Given the description of an element on the screen output the (x, y) to click on. 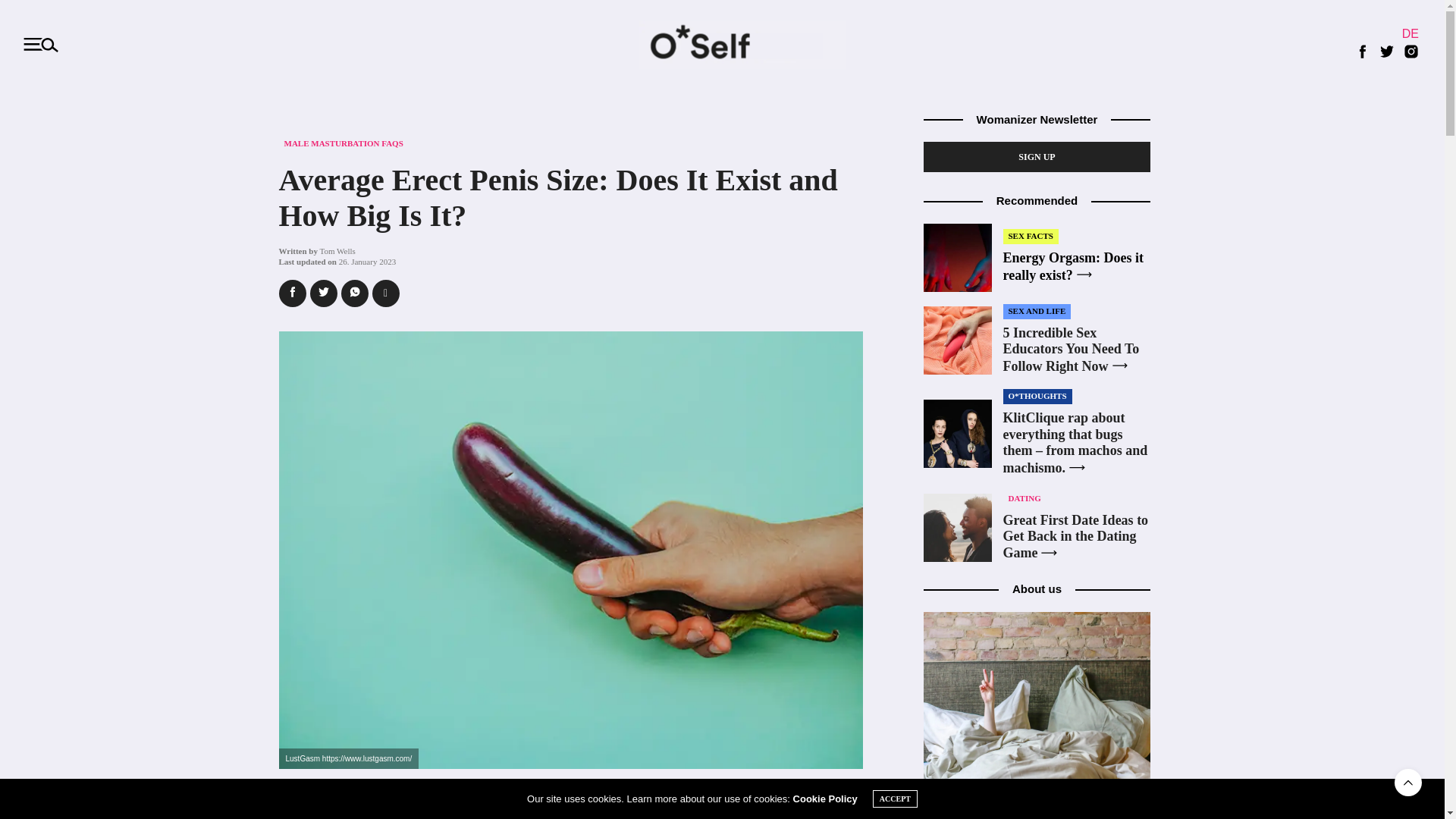
Posts by Tom Wells (337, 250)
Average Erect Penis Size: Does It Exist and How Big Is It? (558, 197)
Tom Wells (337, 250)
DE (1410, 34)
MALE MASTURBATION FAQS (344, 143)
Average Erect Penis Size: Does It Exist and How Big Is It? (558, 197)
